Given the description of an element on the screen output the (x, y) to click on. 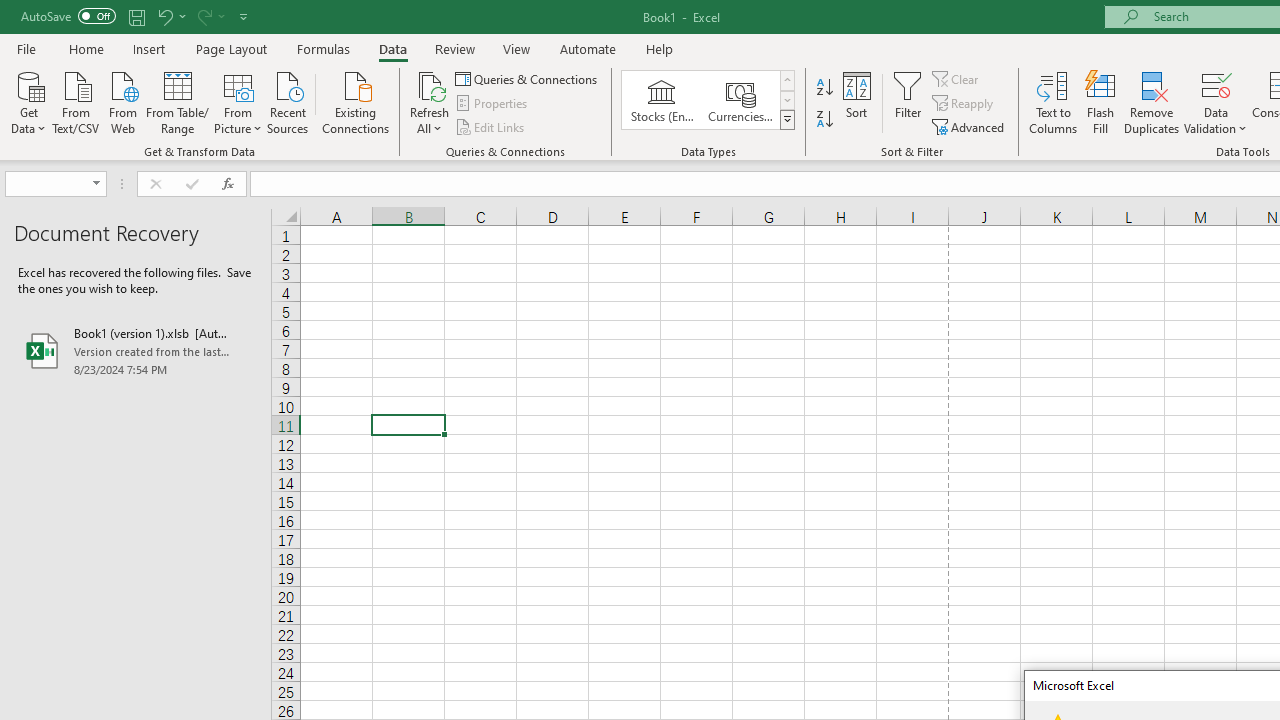
Currencies (English) (740, 100)
Sort Z to A (824, 119)
Sort... (856, 102)
Row up (786, 79)
Stocks (English) (662, 100)
Existing Connections (355, 101)
Advanced... (970, 126)
Data Types (786, 120)
Flash Fill (1101, 102)
Sort A to Z (824, 87)
Remove Duplicates (1151, 102)
Properties (492, 103)
